Given the description of an element on the screen output the (x, y) to click on. 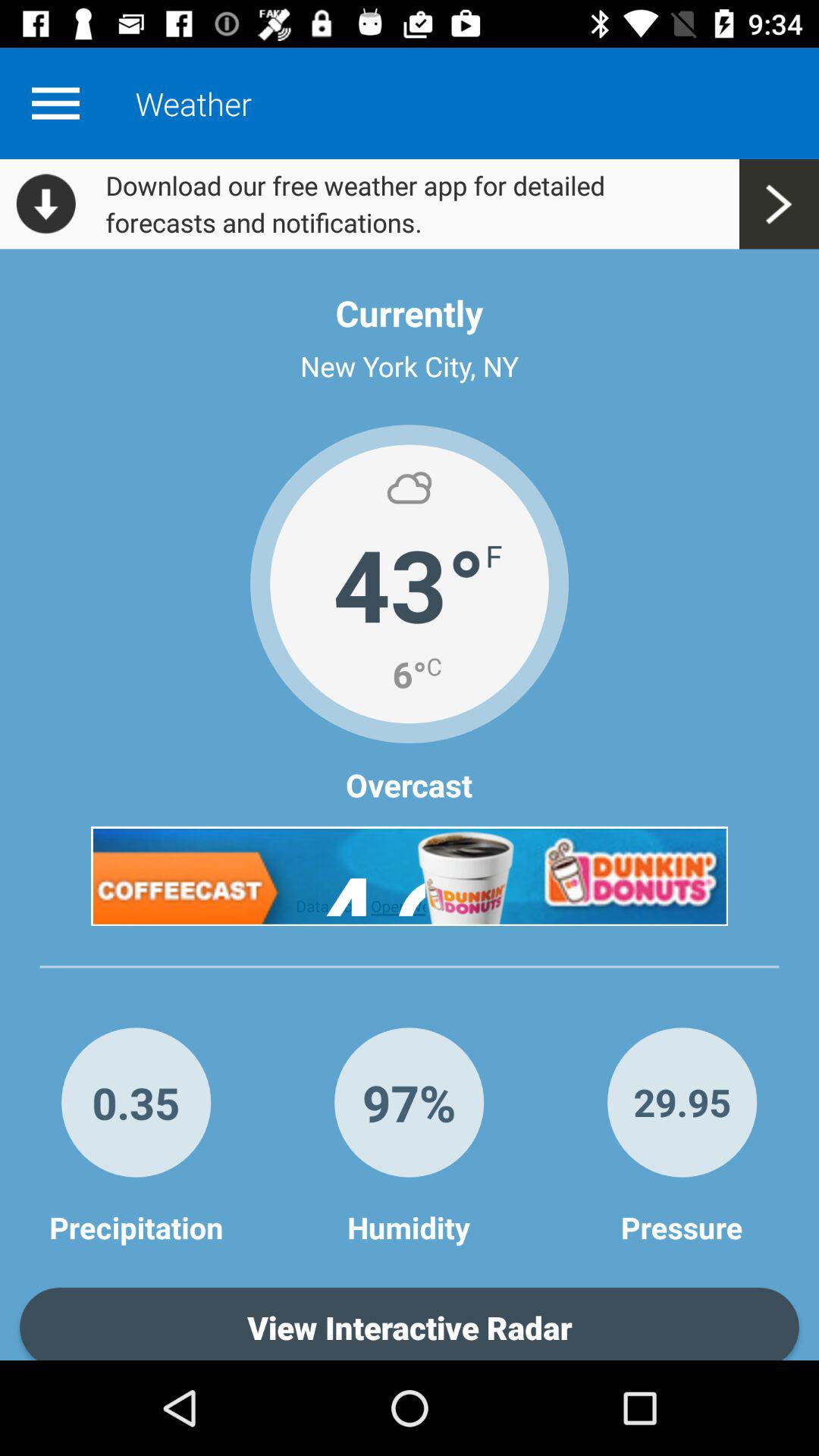
advertisement (409, 875)
